Given the description of an element on the screen output the (x, y) to click on. 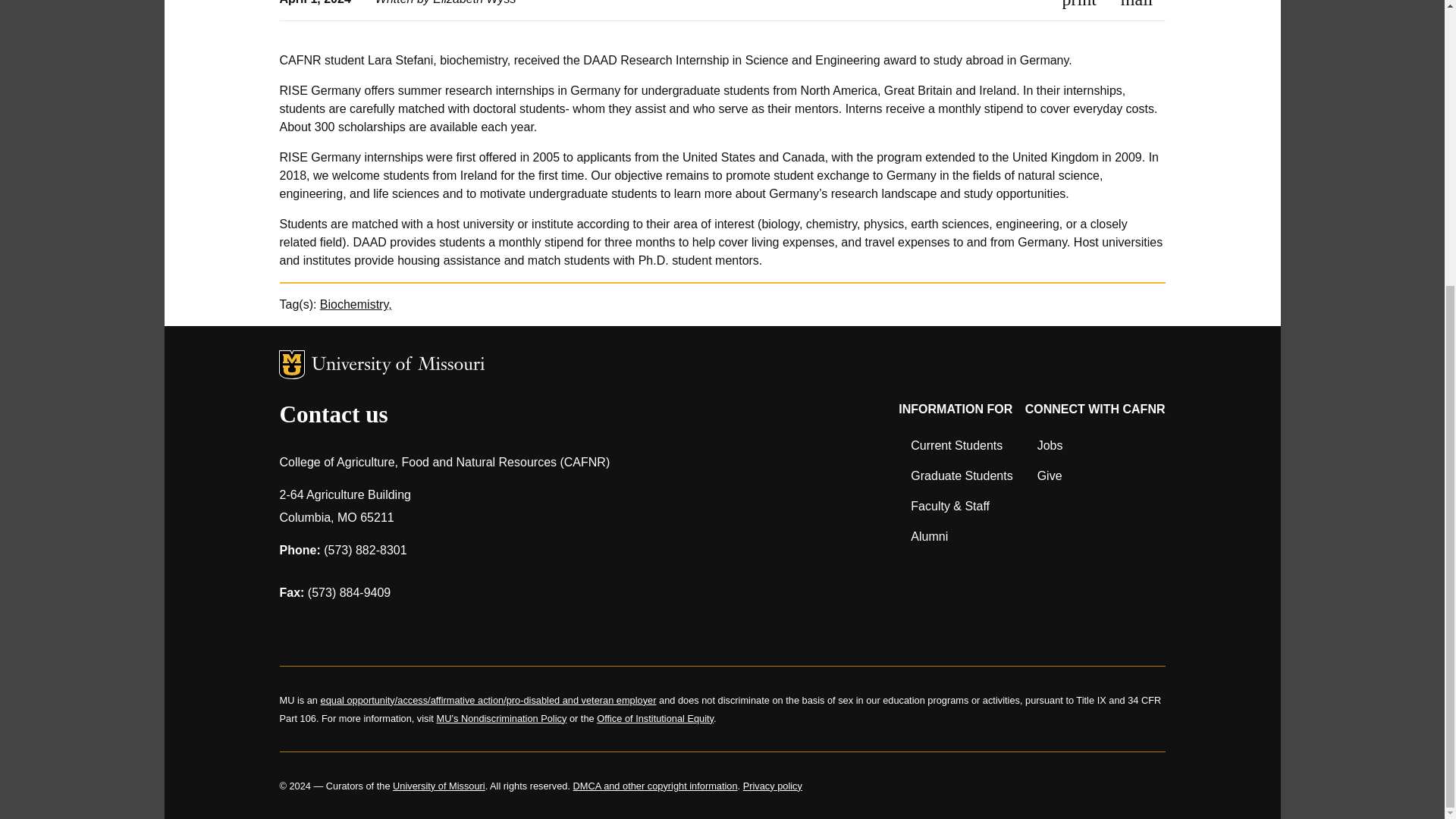
Facebook (292, 627)
Email (1137, 4)
X (371, 627)
Print (1079, 4)
Youtube (450, 627)
Linkedin (411, 627)
Instagram (332, 627)
